Given the description of an element on the screen output the (x, y) to click on. 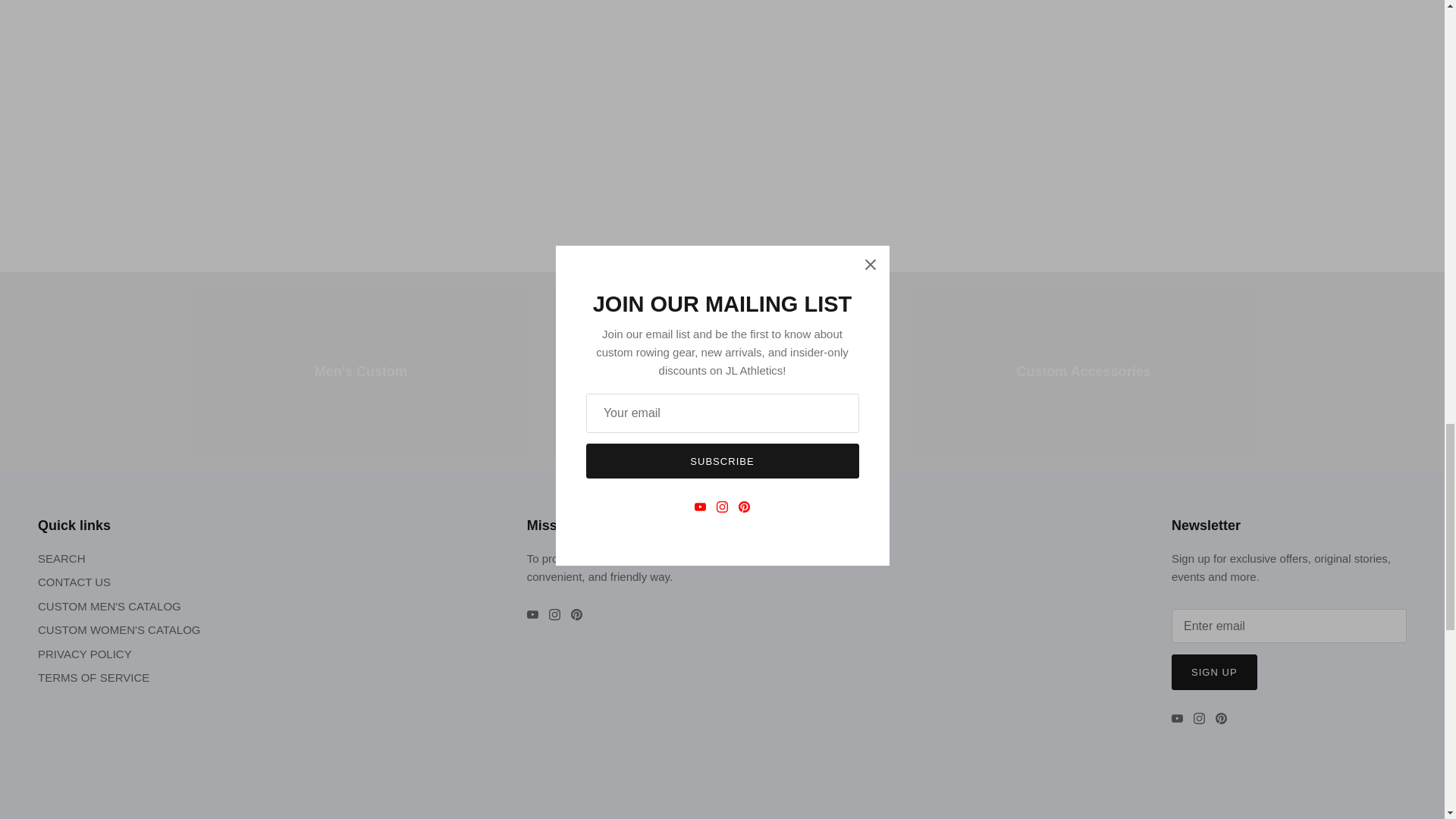
Instagram (1199, 717)
Instagram (554, 614)
Pinterest (1221, 717)
Youtube (532, 614)
Pinterest (576, 614)
Youtube (1177, 717)
